Given the description of an element on the screen output the (x, y) to click on. 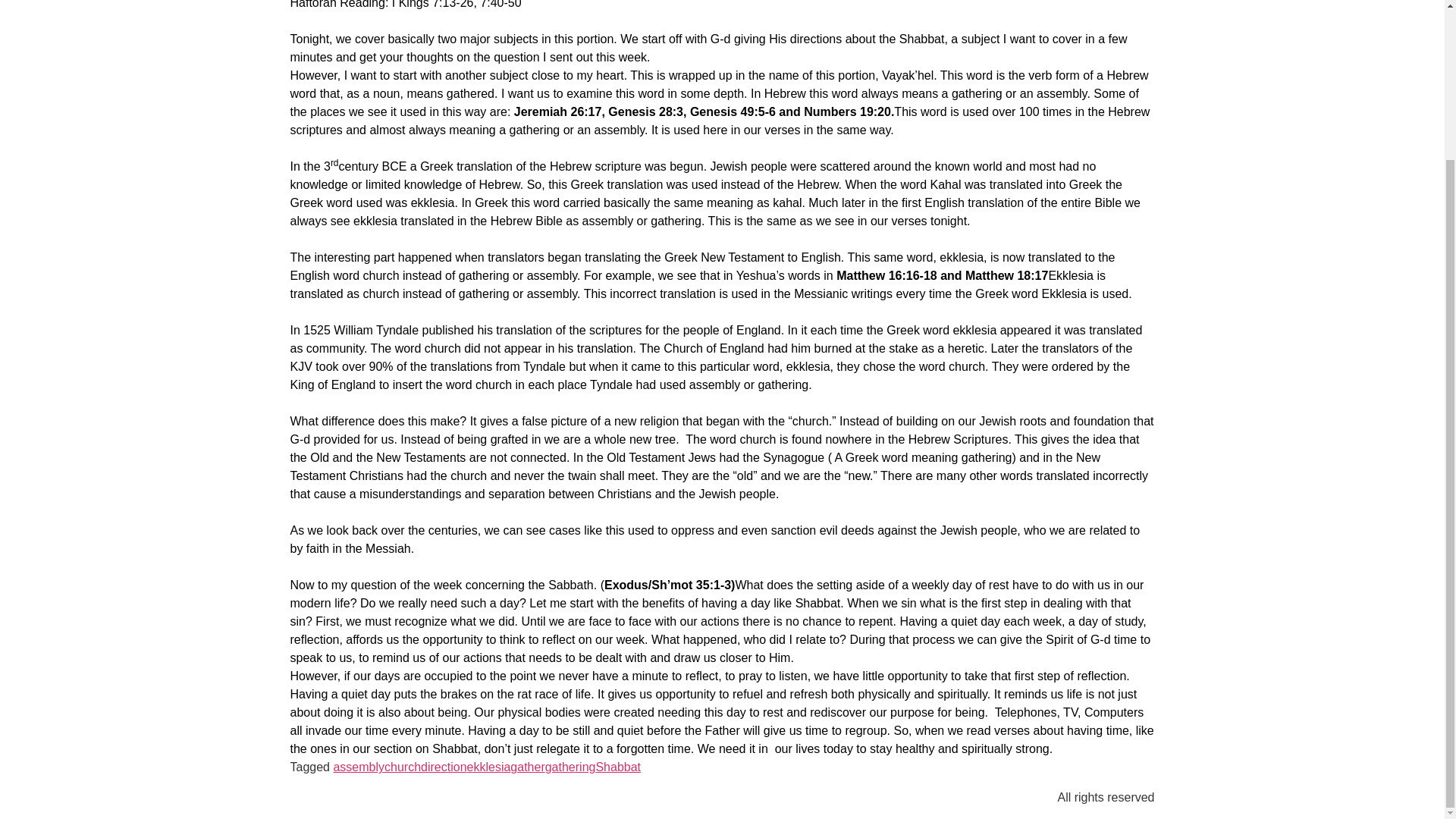
assembly (358, 766)
Shabbat (617, 766)
gathering (569, 766)
gather (527, 766)
direction (442, 766)
ekklesia (489, 766)
church (402, 766)
